Given the description of an element on the screen output the (x, y) to click on. 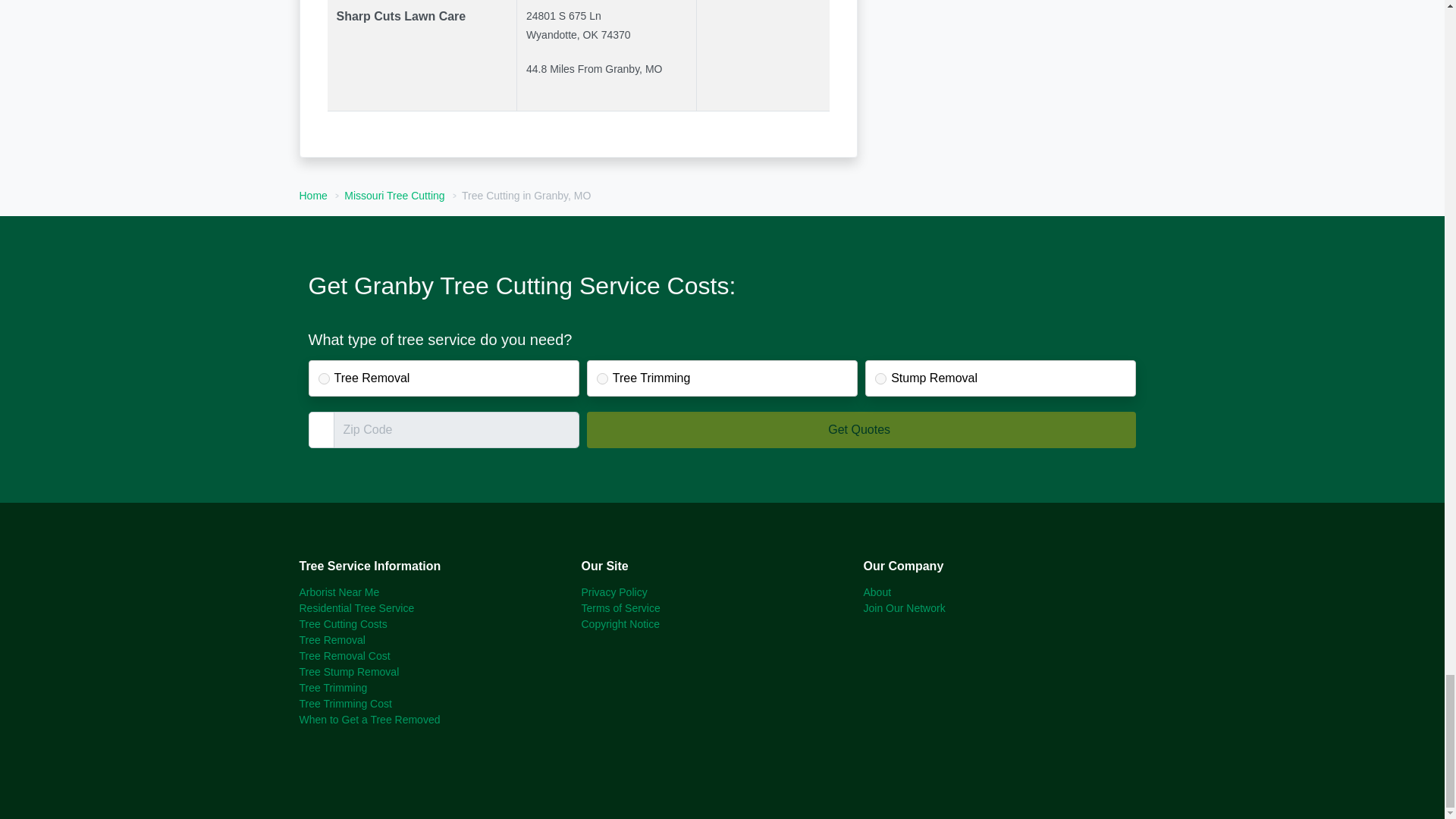
Join Our Network (903, 607)
Missouri Tree Cutting (393, 195)
Arborist Near Me (338, 592)
Get Quotes (861, 429)
About (877, 592)
Tree Trimming (602, 378)
Tree Removal (324, 378)
Tree Removal (331, 639)
When to Get a Tree Removed (368, 719)
Stump Removal (880, 378)
